Given the description of an element on the screen output the (x, y) to click on. 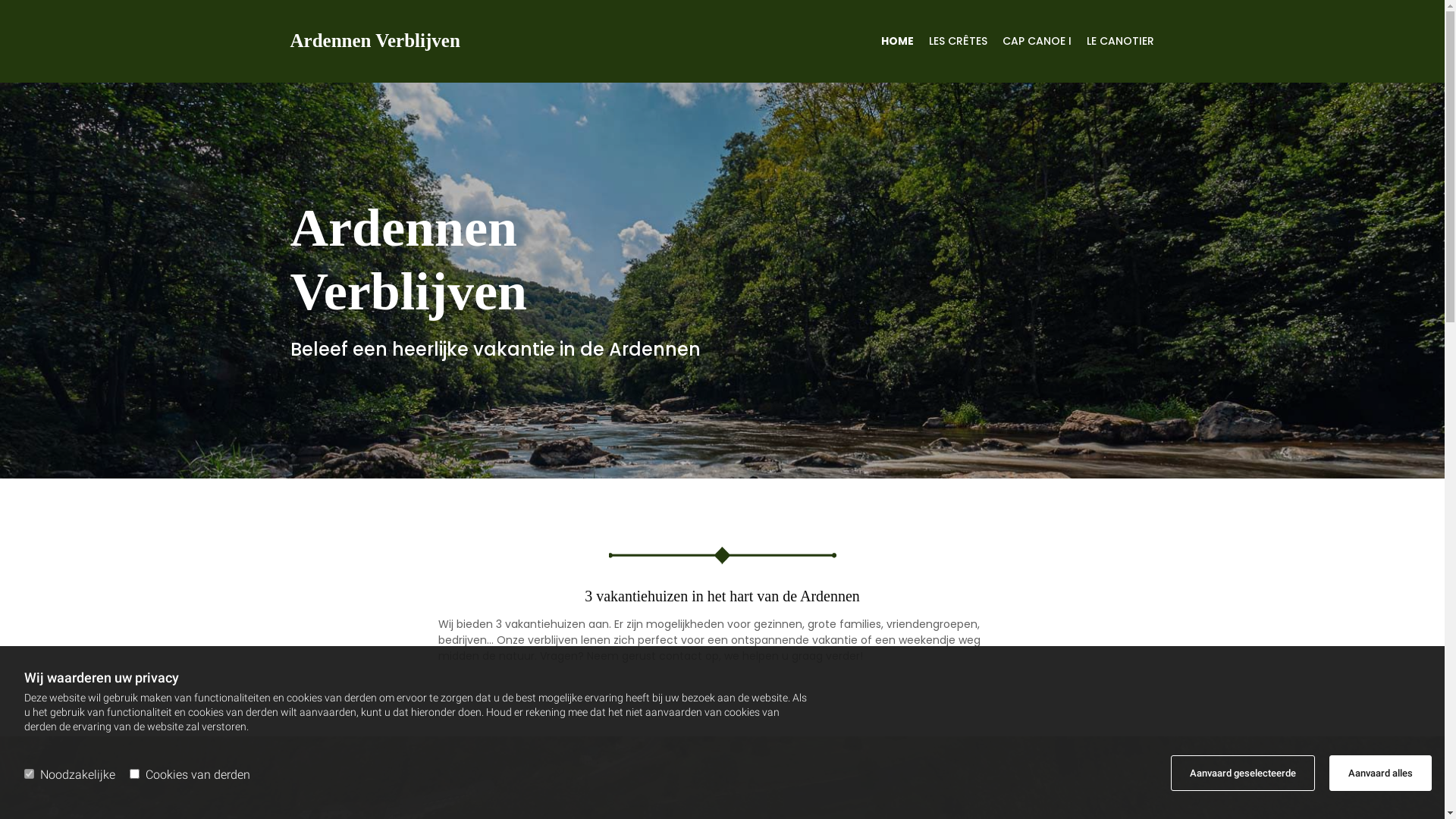
CAP CANOE I Element type: text (1029, 46)
LE CANOTIER Element type: text (1112, 46)
Aanvaard alles Element type: text (1380, 772)
Ardennen Verblijven Element type: text (374, 40)
Aanvaard geselecteerde Element type: text (1242, 772)
HOME Element type: text (889, 46)
